Given the description of an element on the screen output the (x, y) to click on. 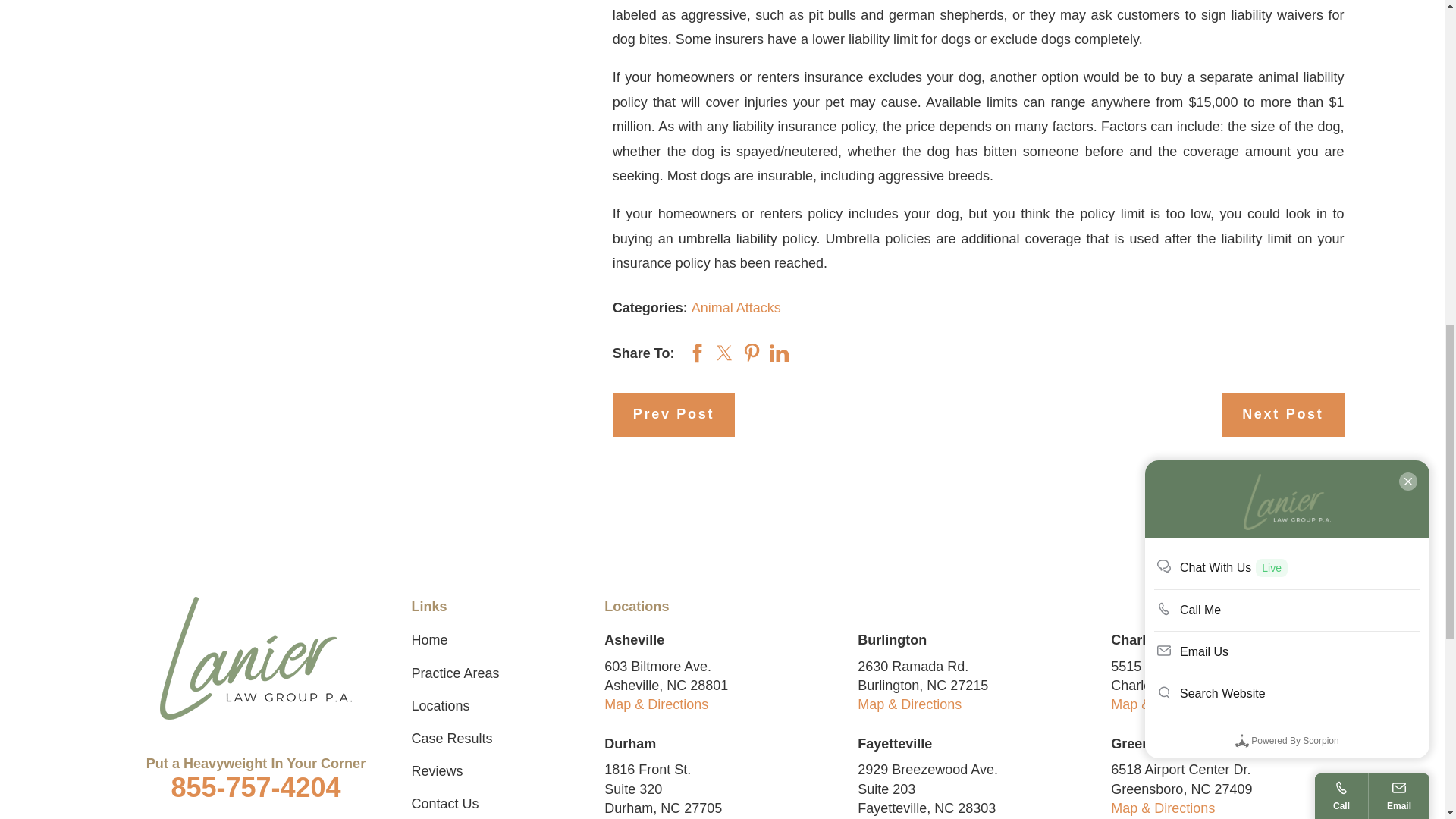
Lanier Law Group, P.A. (256, 658)
Home (256, 658)
